Given the description of an element on the screen output the (x, y) to click on. 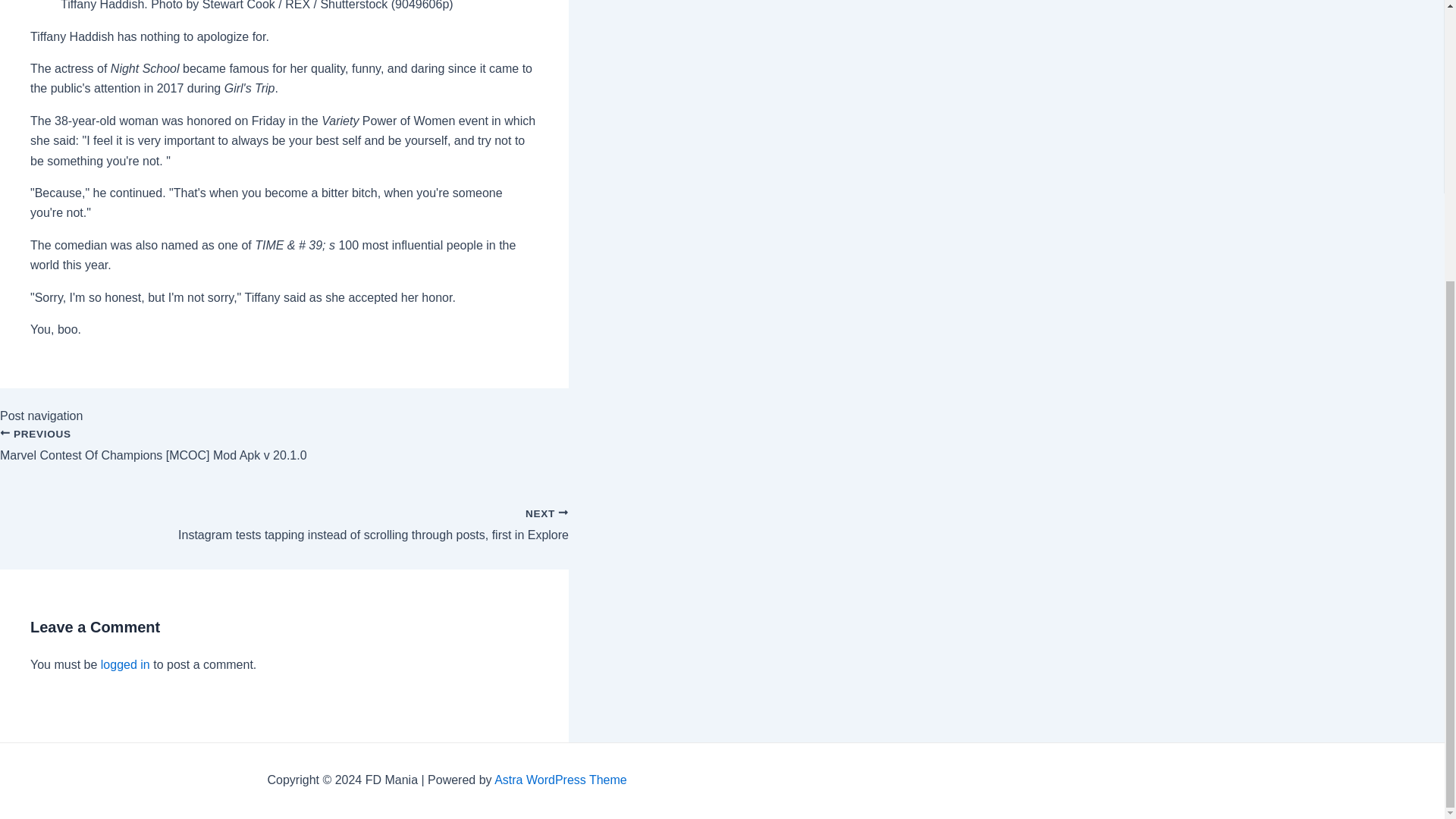
logged in (124, 664)
Astra WordPress Theme (561, 779)
